Given the description of an element on the screen output the (x, y) to click on. 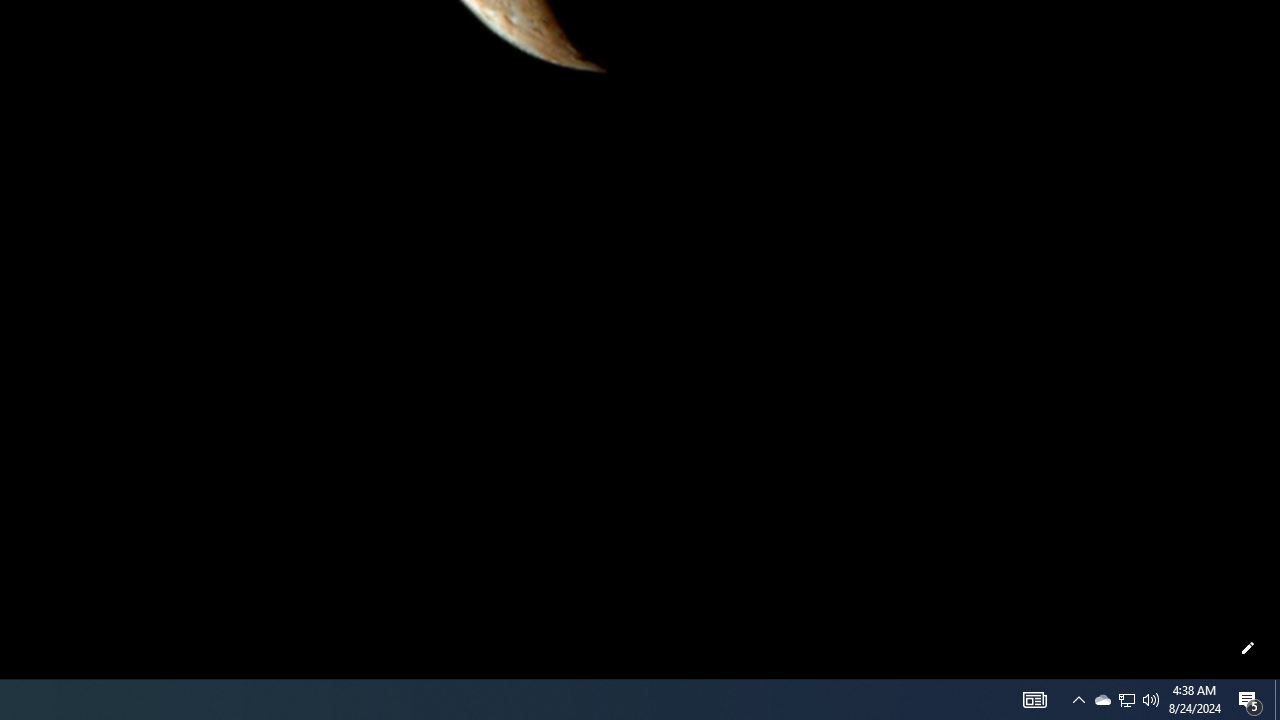
Customize this page (1247, 647)
